Given the description of an element on the screen output the (x, y) to click on. 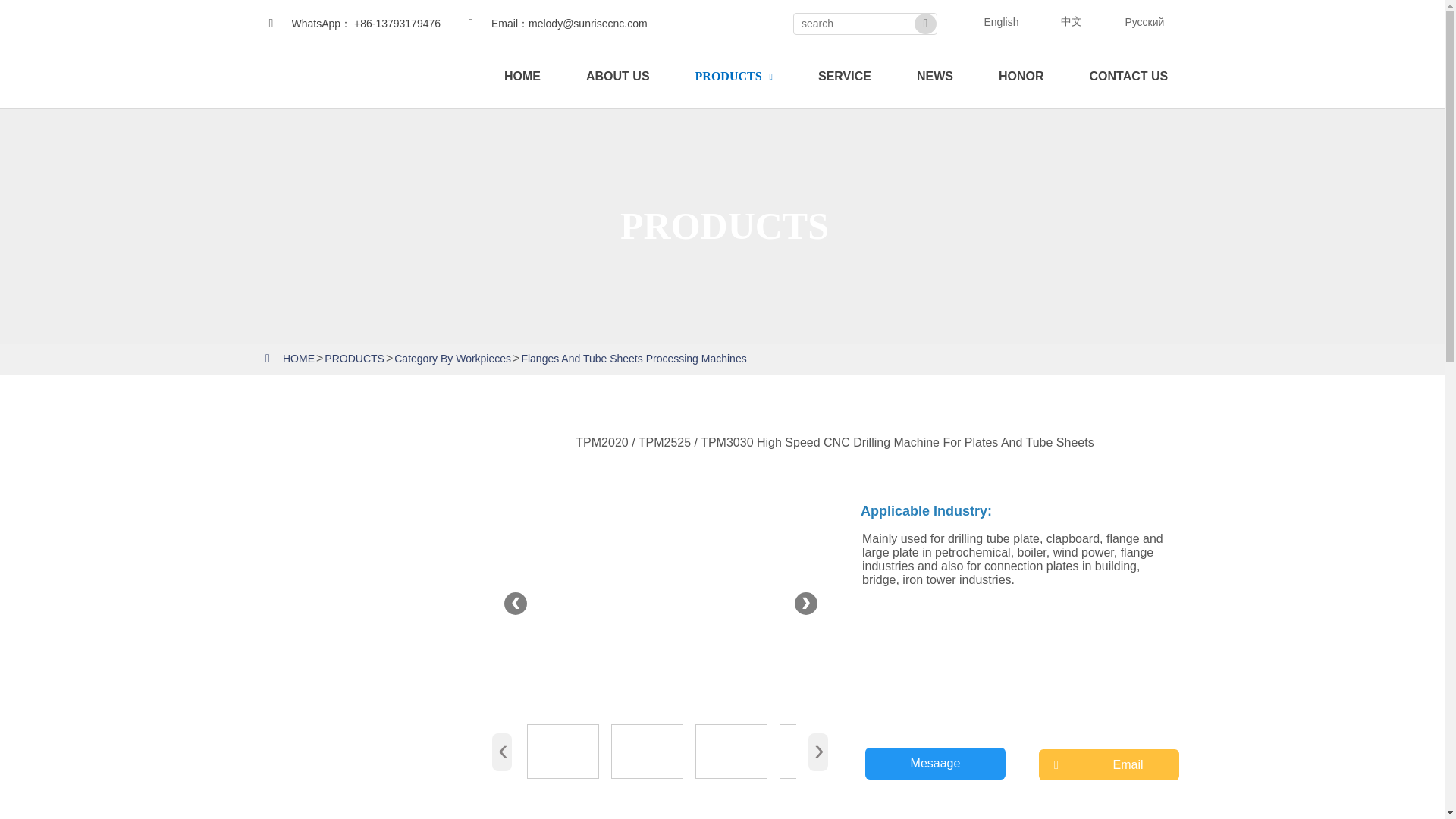
English (992, 20)
SERVICE (843, 76)
HOME (522, 76)
NEWS (934, 76)
CONTACT US (1128, 76)
HONOR (1021, 76)
ABOUT US (617, 76)
